Given the description of an element on the screen output the (x, y) to click on. 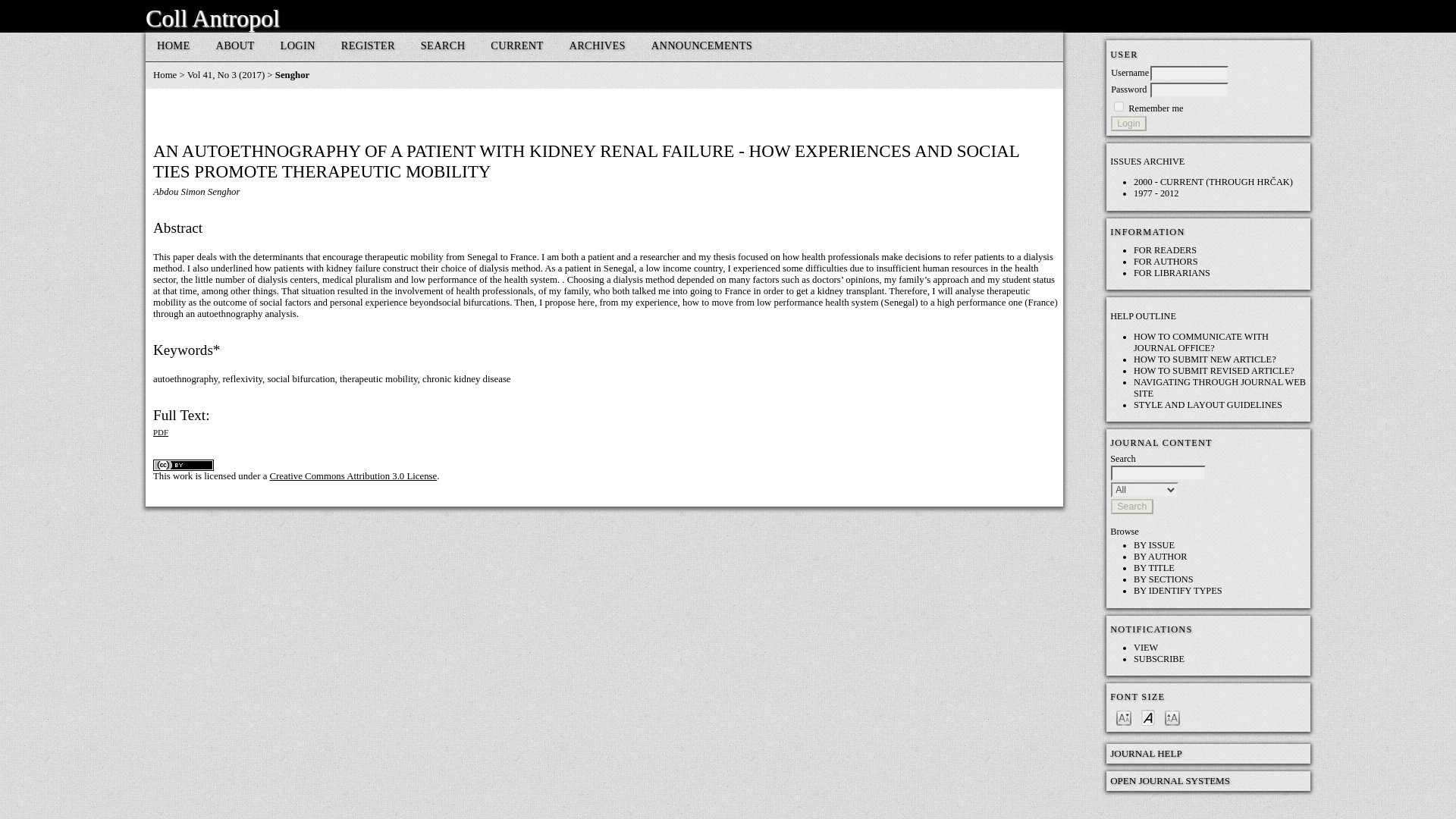
HOW TO COMMUNICATE WITH JOURNAL OFFICE? (1201, 341)
Login (1127, 123)
NAVIGATING THROUGH JOURNAL WEB SITE (1220, 387)
Home (164, 74)
FOR READERS (1165, 249)
Make font size smaller (1123, 716)
1 (1118, 106)
Search (1131, 506)
REGISTER (367, 46)
Search (1131, 506)
SEARCH (442, 46)
HOW TO SUBMIT REVISED ARTICLE? (1214, 370)
OPEN JOURNAL SYSTEMS (1169, 780)
Creative Commons Attribution 3.0 License (353, 475)
ANNOUNCEMENTS (701, 46)
